Given the description of an element on the screen output the (x, y) to click on. 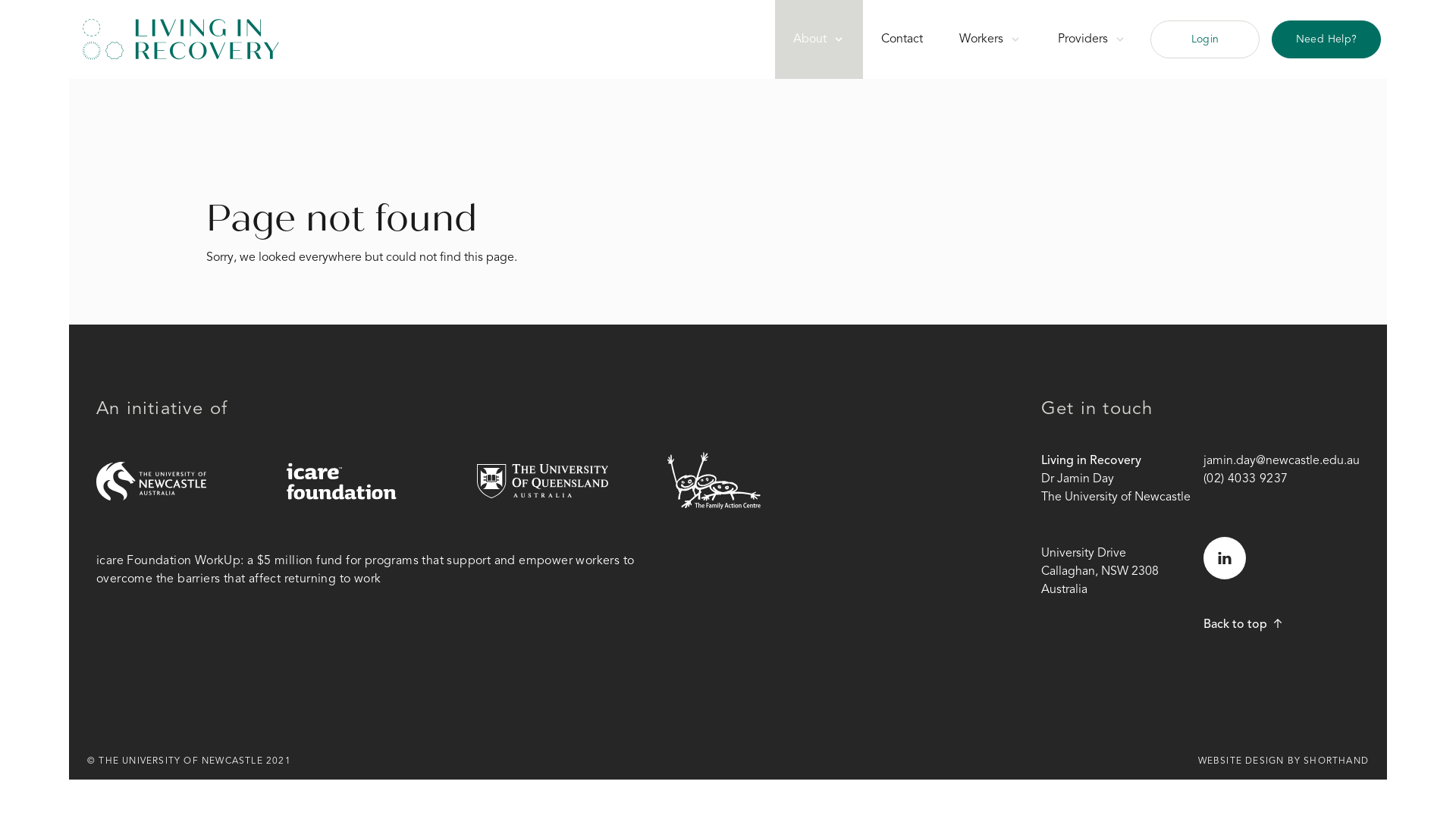
Back to top Element type: text (1242, 624)
Workers Element type: text (990, 39)
Providers Element type: text (1091, 39)
Need Help? Element type: text (1325, 39)
Login Element type: text (1204, 39)
Contact Element type: text (901, 39)
About Element type: text (818, 39)
THE UNIVERSITY OF NEWCASTLE 2021 Element type: text (194, 760)
Need Help? Element type: text (1326, 39)
Login Element type: text (1204, 39)
